Given the description of an element on the screen output the (x, y) to click on. 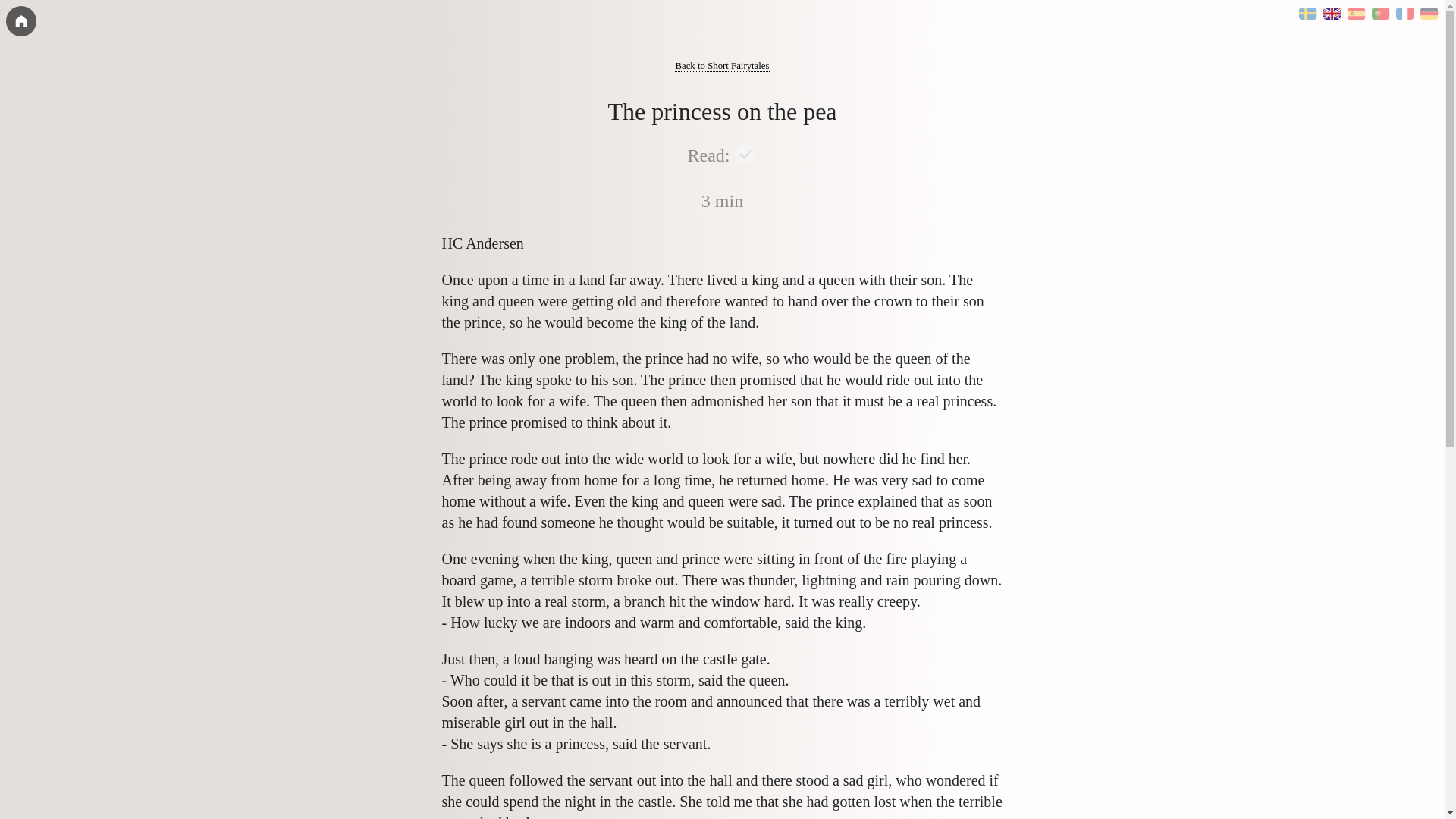
Back to Short Fairytales (721, 66)
Language: FR (1404, 13)
Language: DE (1429, 13)
Language: ES (1356, 13)
Language: PT (1380, 13)
Language: EN (1331, 13)
Language: SV (1307, 13)
